Given the description of an element on the screen output the (x, y) to click on. 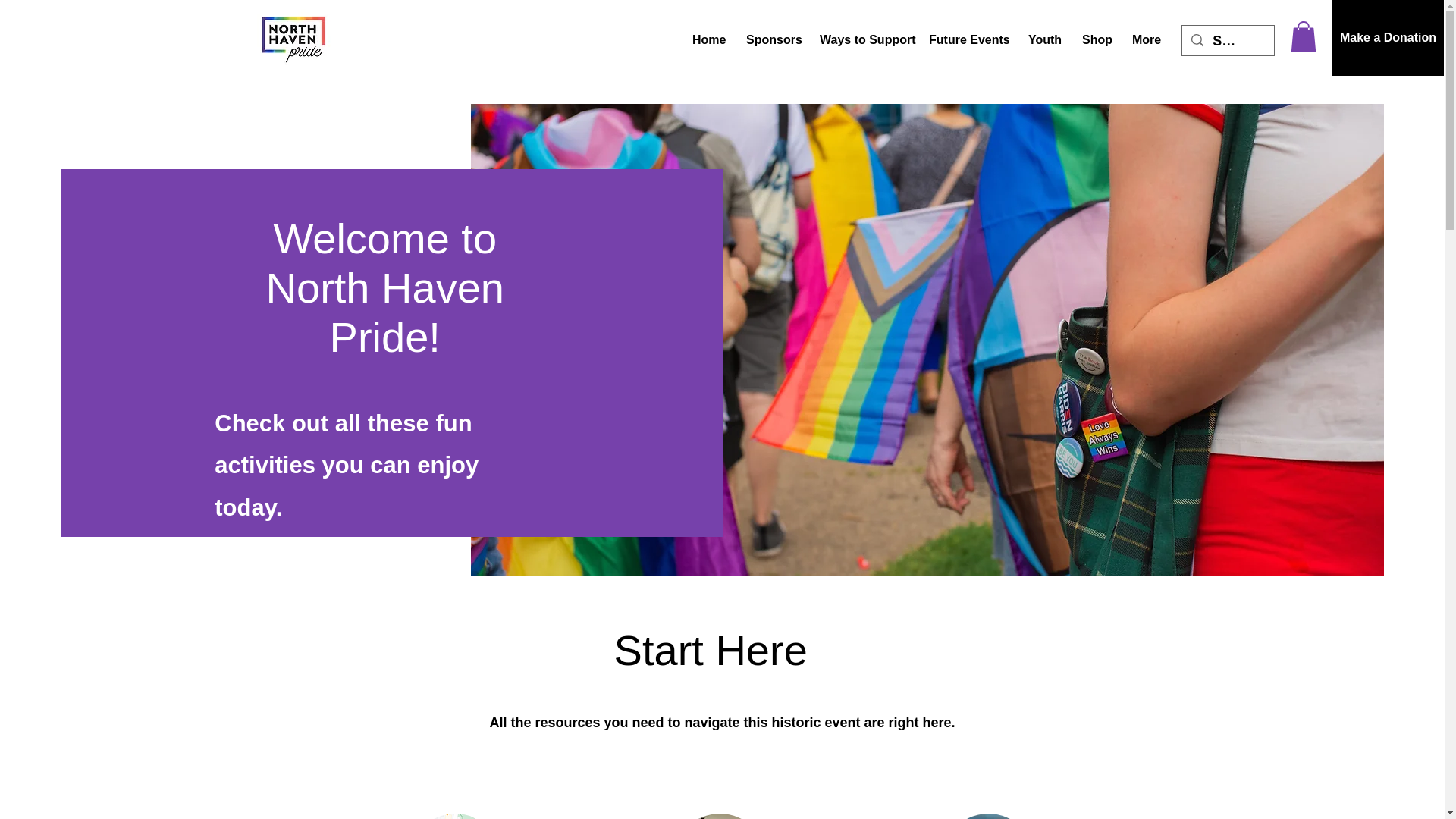
Youth (1043, 39)
Sponsors (771, 39)
Future Events (966, 39)
Make a Donation (1388, 38)
Shop (1095, 39)
Ways to Support (862, 39)
Home (708, 39)
